Given the description of an element on the screen output the (x, y) to click on. 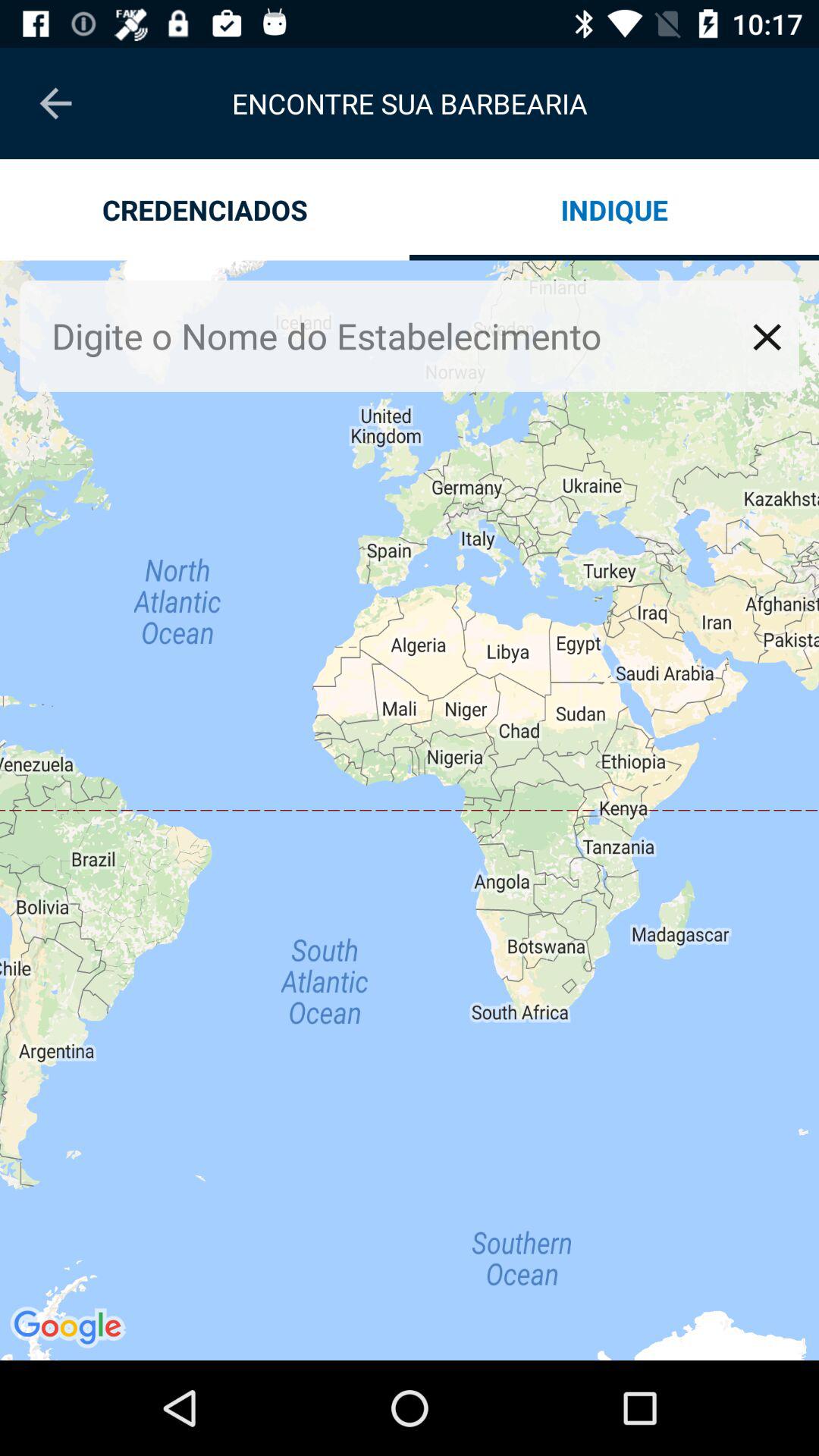
tap icon to the left of the indique item (204, 209)
